Given the description of an element on the screen output the (x, y) to click on. 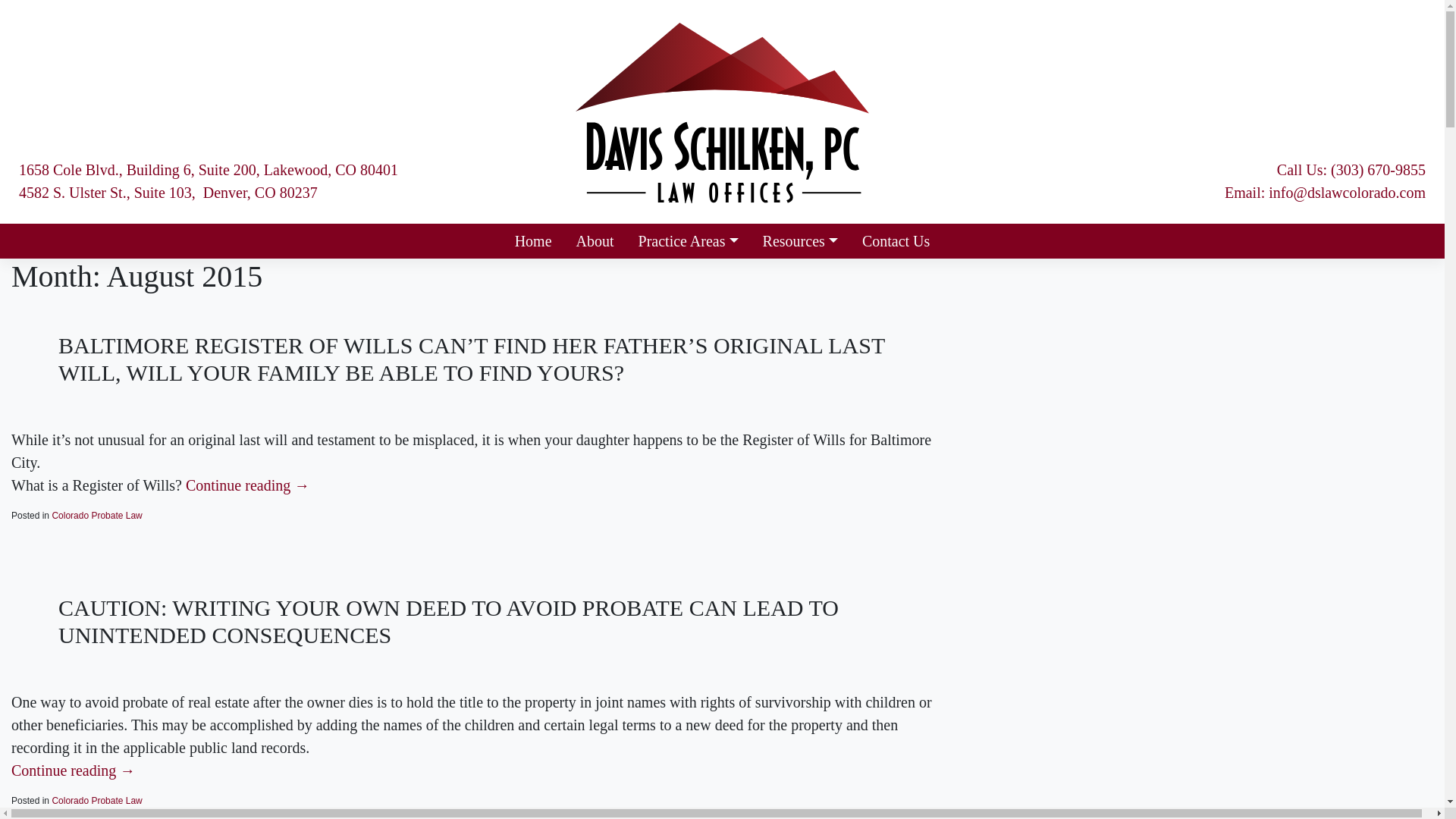
Practice Areas (688, 240)
Home (533, 240)
Home (533, 240)
Contact Us (896, 240)
Resources (800, 240)
About (595, 240)
Resources (800, 240)
Colorado Probate Law (95, 800)
Colorado Probate Law (95, 515)
About (595, 240)
Practice Areas (688, 240)
